Given the description of an element on the screen output the (x, y) to click on. 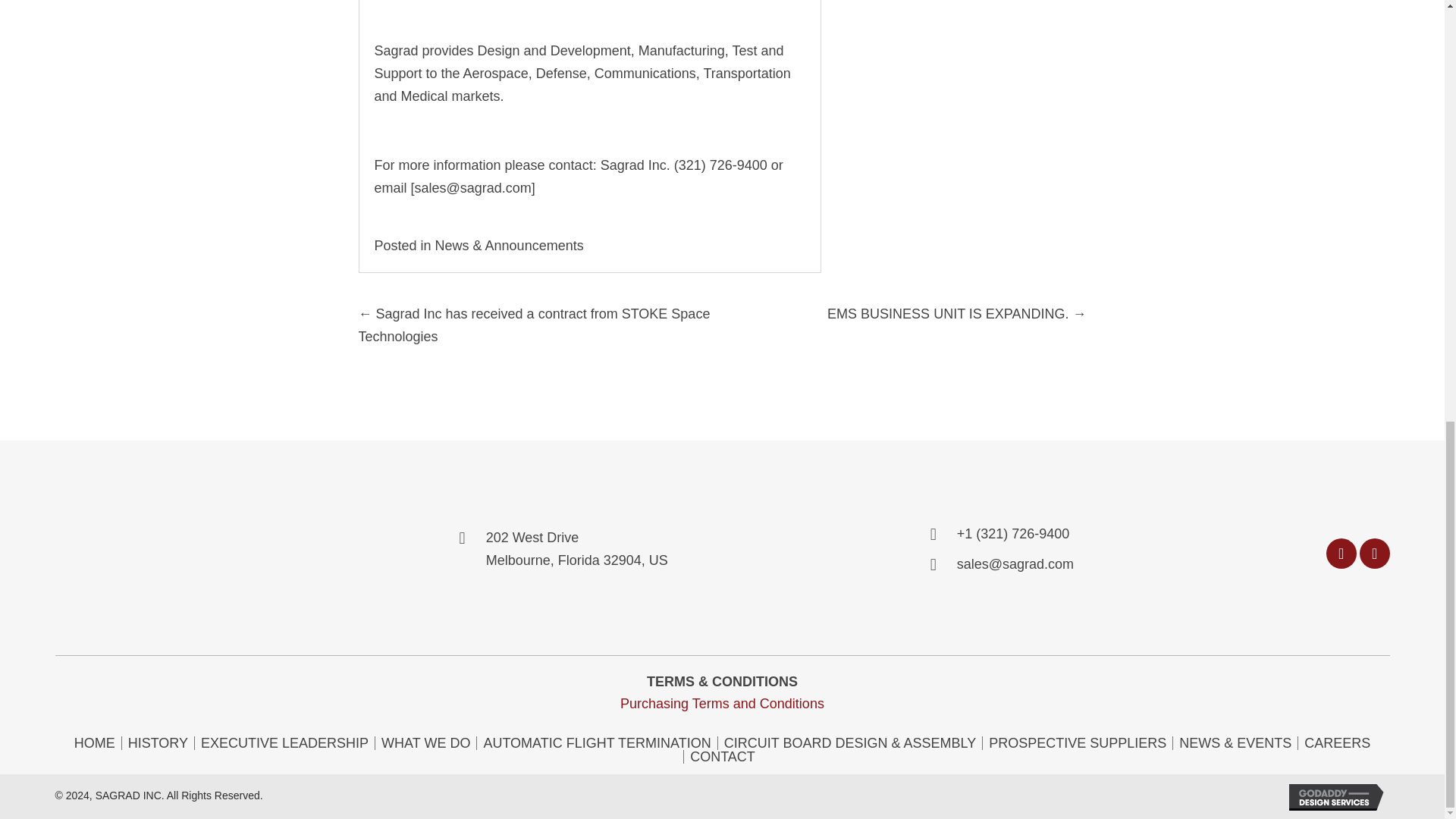
SAGRAD INC. (143, 548)
Twitter (1341, 553)
Linkedin (1374, 553)
